Given the description of an element on the screen output the (x, y) to click on. 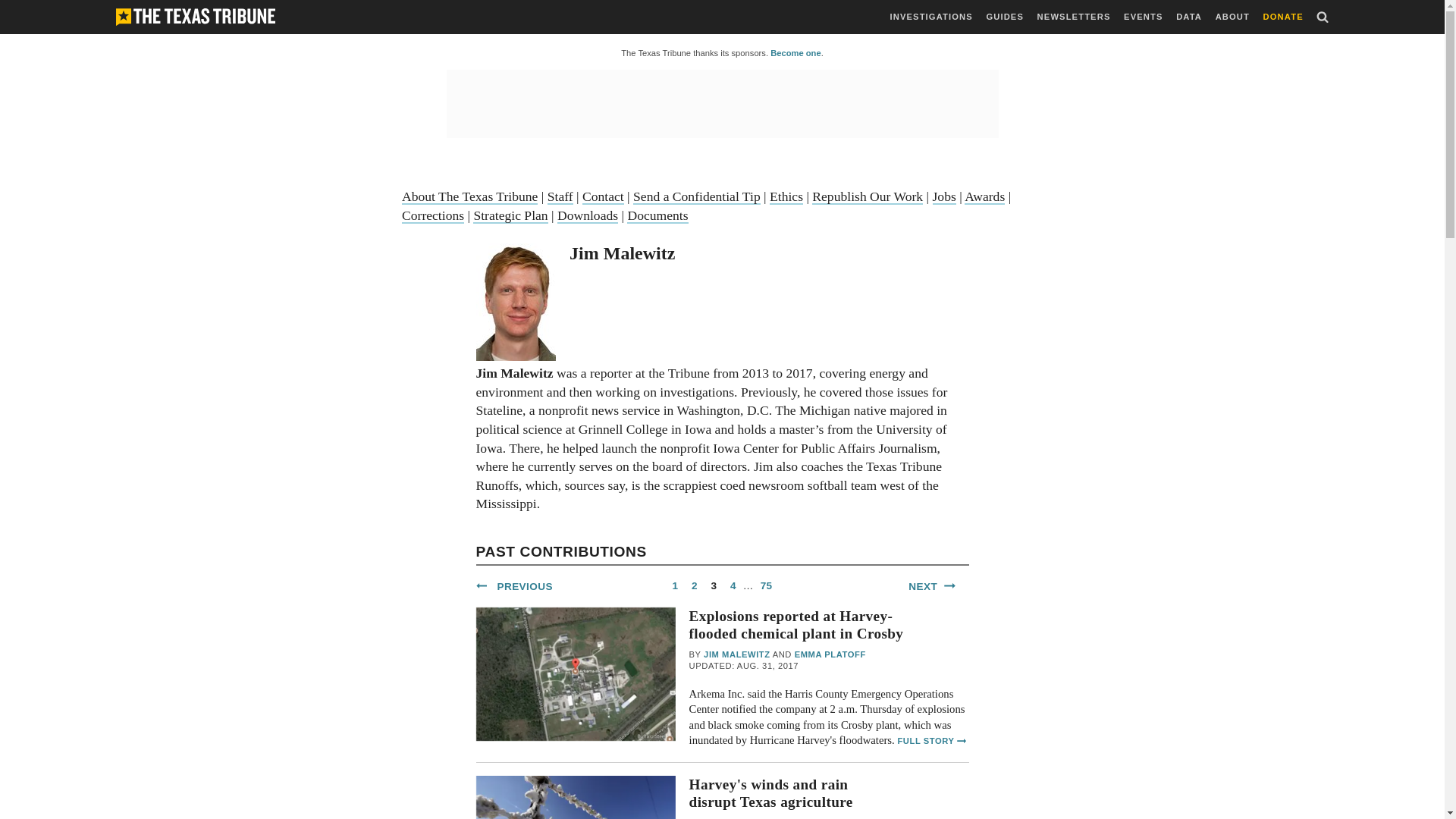
2017-08-30 16:39 CDT (813, 818)
Send a Confidential Tip (696, 196)
NEWSLETTERS (1073, 17)
Staff (560, 196)
Downloads (587, 215)
3rd party ad content (721, 103)
GUIDES (1004, 17)
EVENTS (1142, 17)
Jobs (944, 196)
ABOUT (1232, 17)
INVESTIGATIONS (930, 17)
Republish Our Work (867, 196)
Corrections (432, 215)
Documents (657, 215)
2017-08-31 14:02 CDT (743, 666)
